Given the description of an element on the screen output the (x, y) to click on. 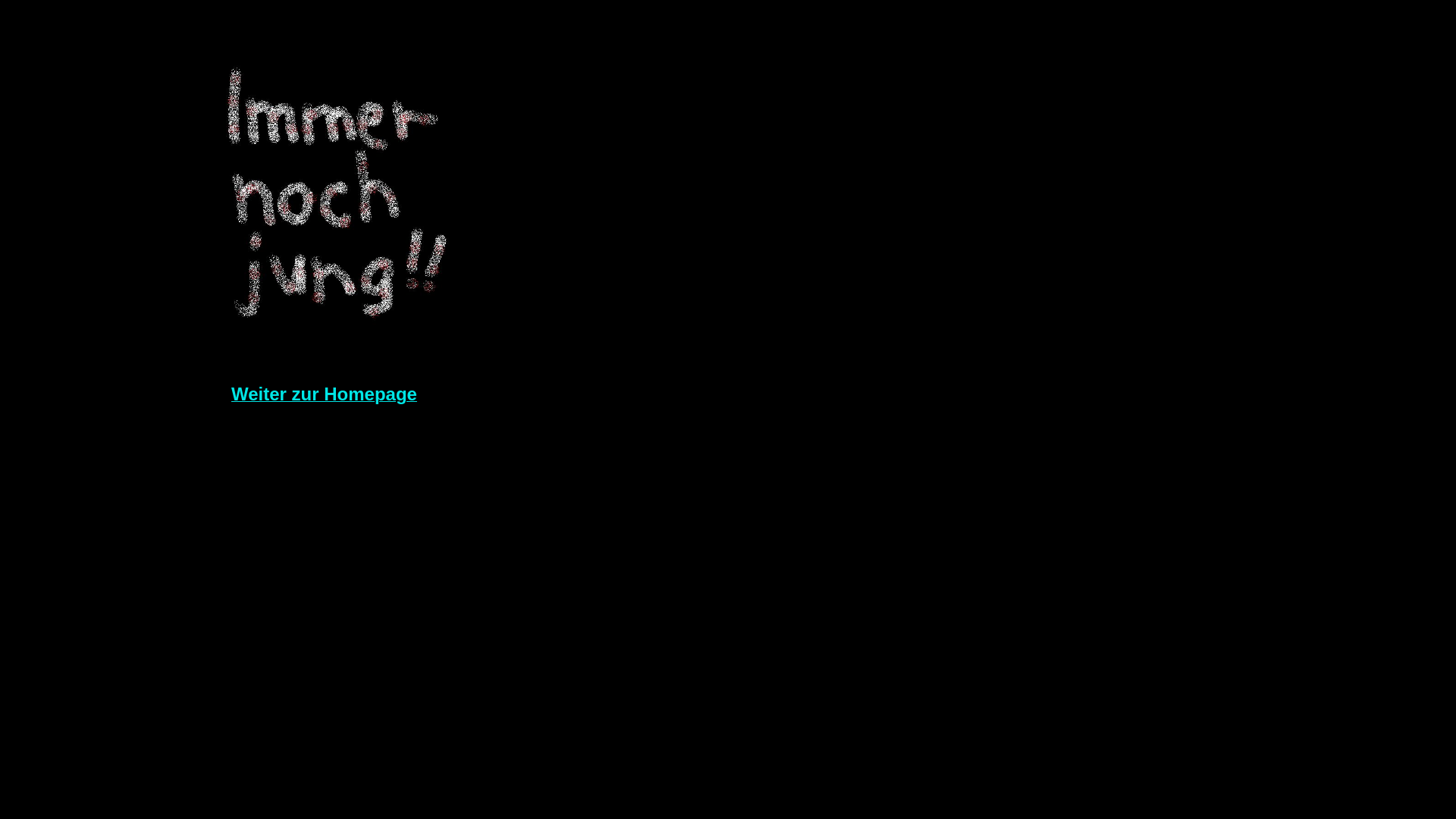
Weiter zur Homepage Element type: text (324, 395)
